Given the description of an element on the screen output the (x, y) to click on. 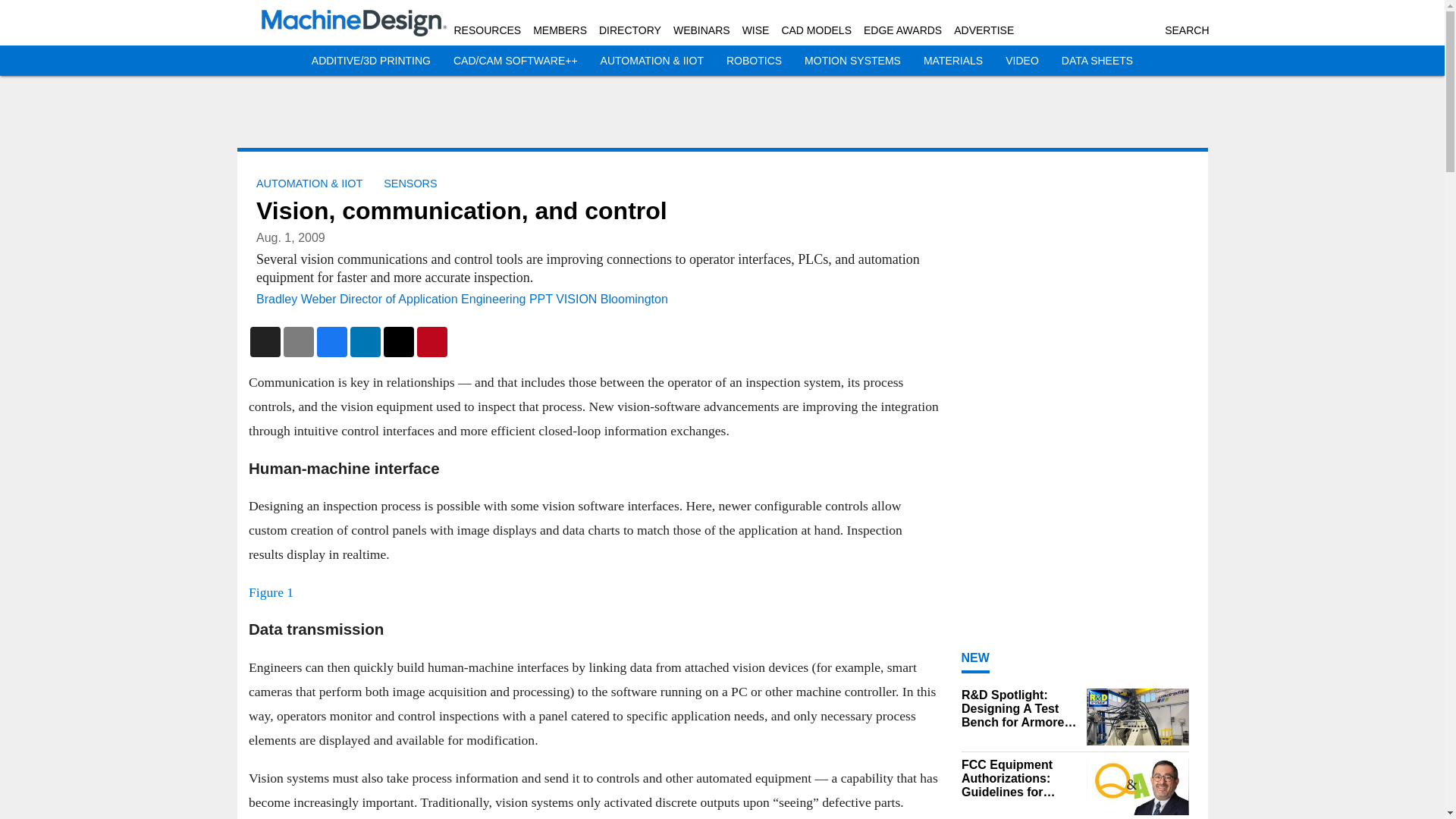
ADVERTISE (983, 30)
CAD MODELS (815, 30)
SEARCH (1186, 30)
DATA SHEETS (1096, 60)
Figure 1 (271, 591)
SENSORS (410, 183)
MEMBERS (559, 30)
WISE (756, 30)
MOTION SYSTEMS (853, 60)
ROBOTICS (753, 60)
MATERIALS (952, 60)
EDGE AWARDS (902, 30)
RESOURCES (486, 30)
WEBINARS (701, 30)
